Given the description of an element on the screen output the (x, y) to click on. 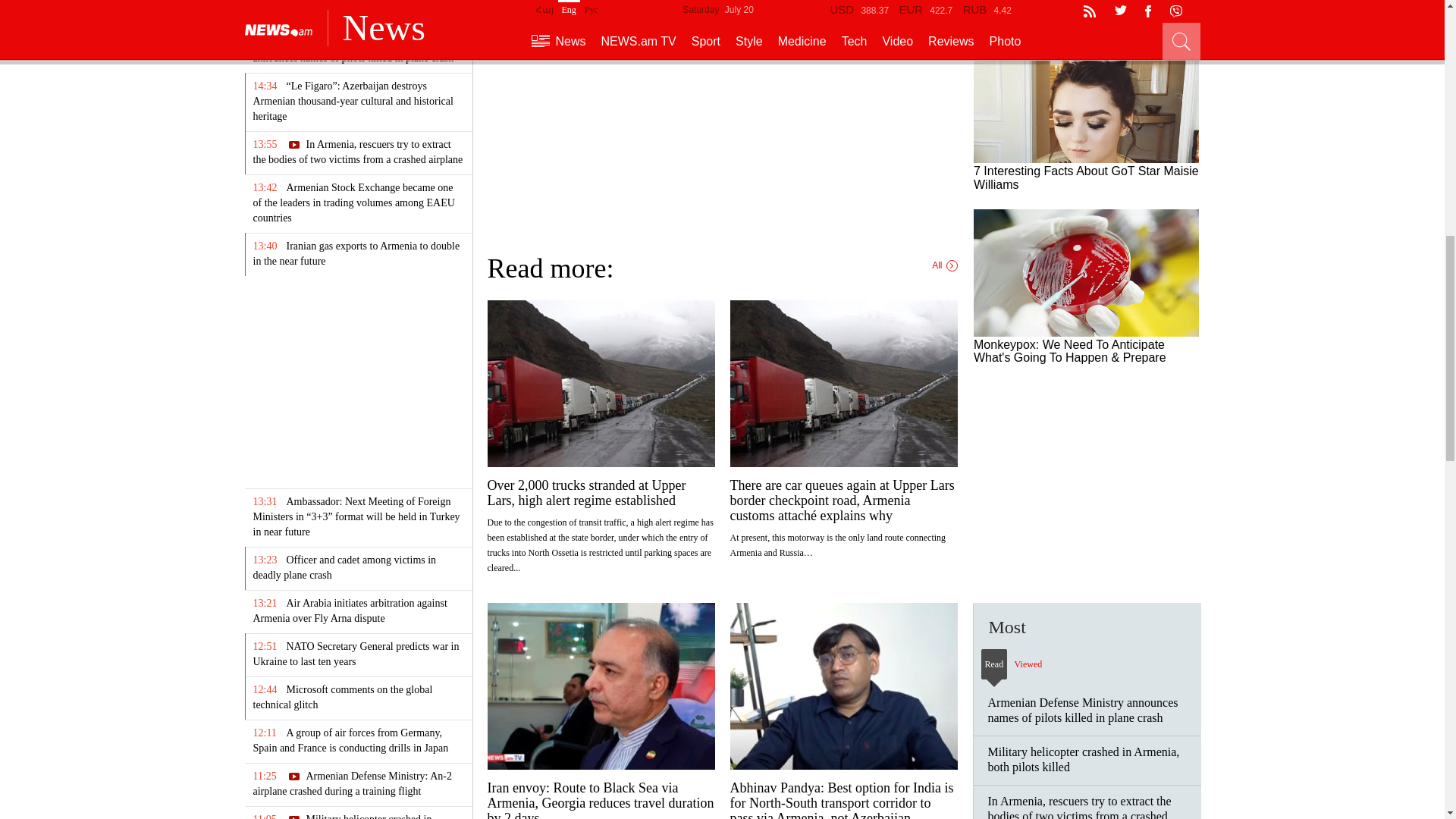
Insticator Content Engagement Unit (721, 120)
